Given the description of an element on the screen output the (x, y) to click on. 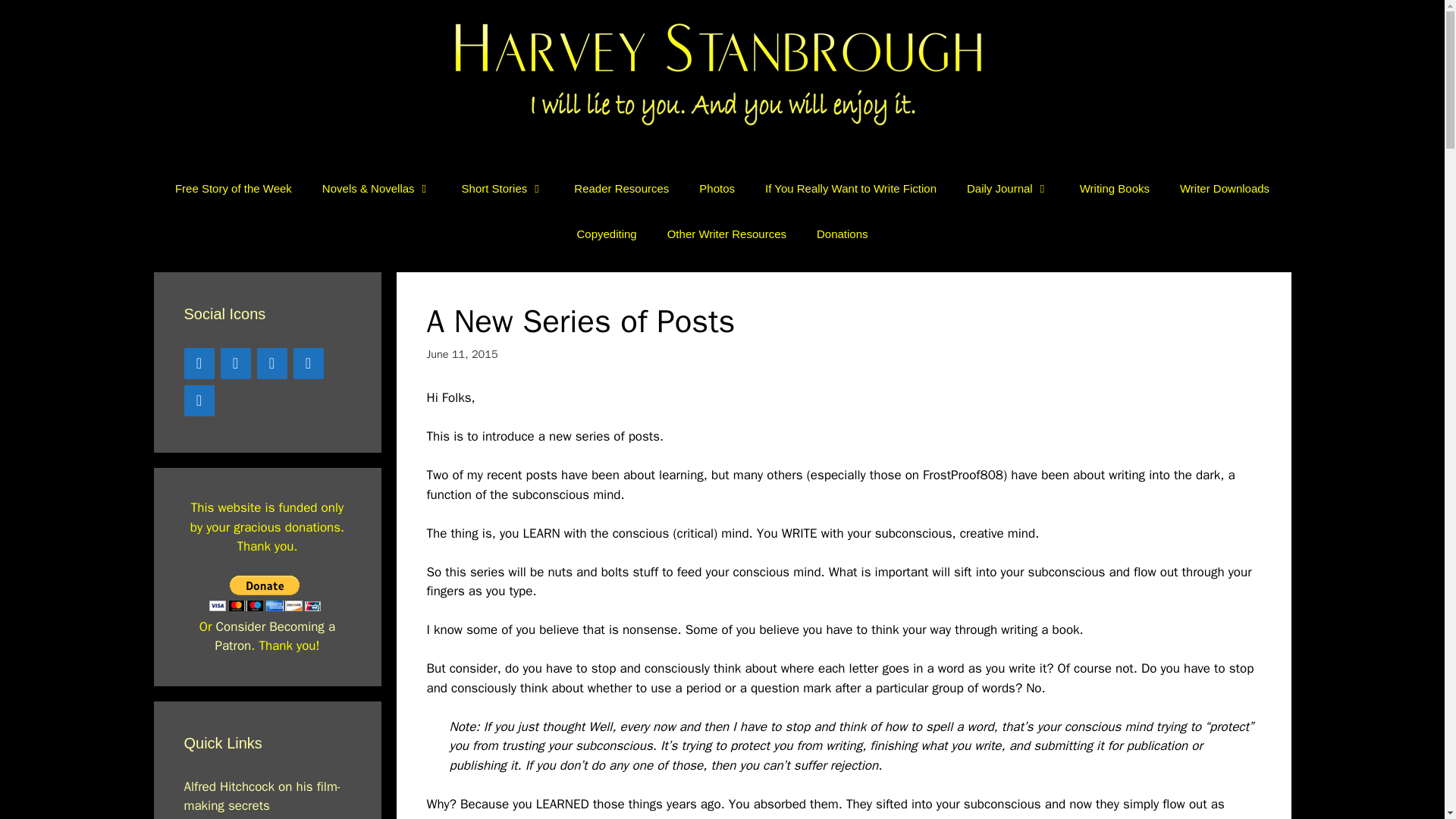
If You Really Want to Write Fiction (850, 188)
Twitter (271, 363)
Copyediting (605, 234)
Twitter (198, 363)
Free Story of the Week (233, 188)
Writing Books (1114, 188)
Reader Resources (621, 188)
YouTube (234, 363)
Other Writer Resources (727, 234)
Writer Downloads (1224, 188)
